Given the description of an element on the screen output the (x, y) to click on. 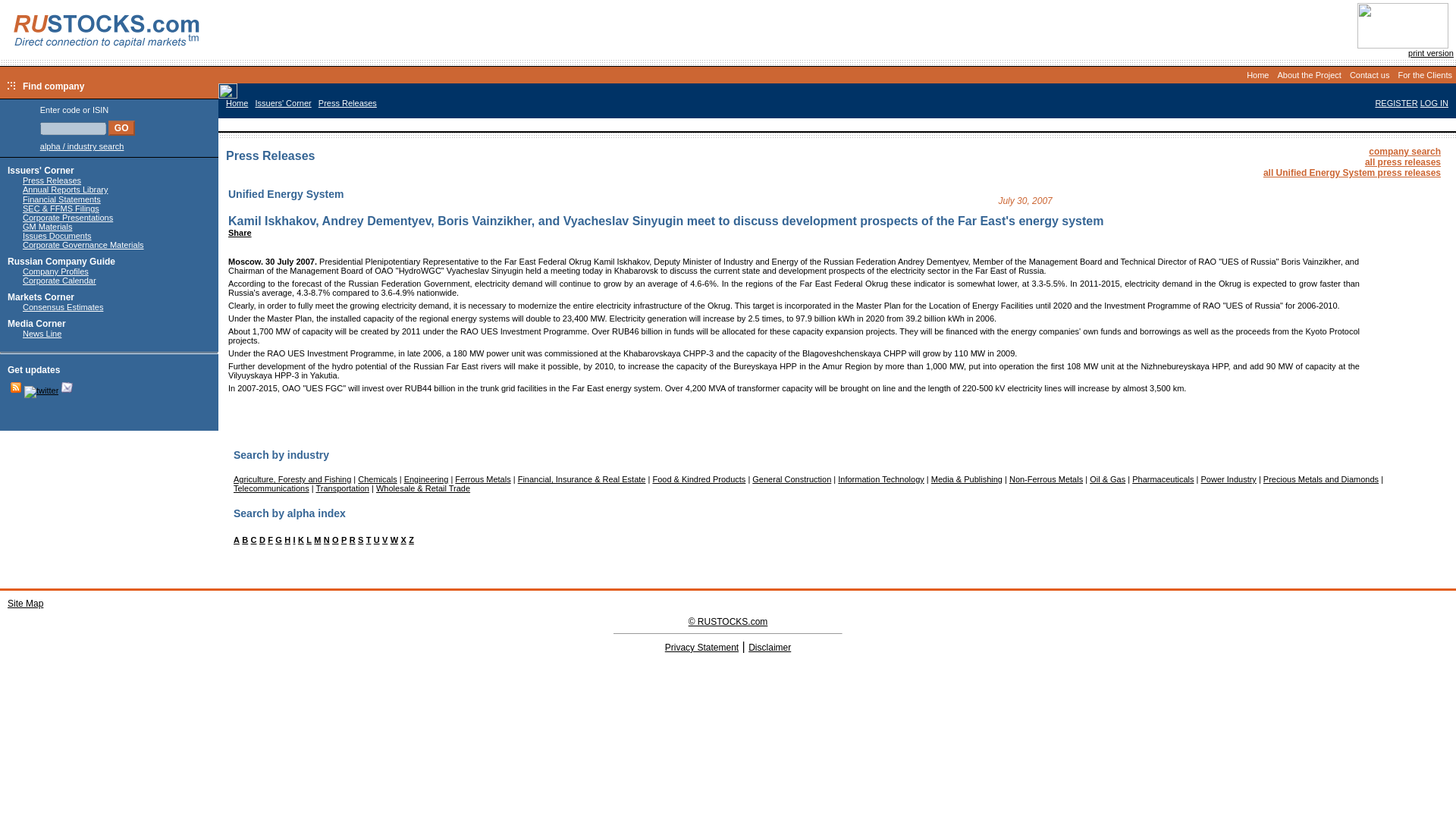
Corporate Governance Materials (83, 244)
all Unified Energy System press releases (1352, 172)
News Line (42, 333)
Press Releases (347, 102)
Press Releases (52, 180)
RSS (15, 387)
all press releases (1403, 162)
Media Corner (36, 323)
Corporate Calendar (59, 280)
Issues Documents (56, 235)
